Given the description of an element on the screen output the (x, y) to click on. 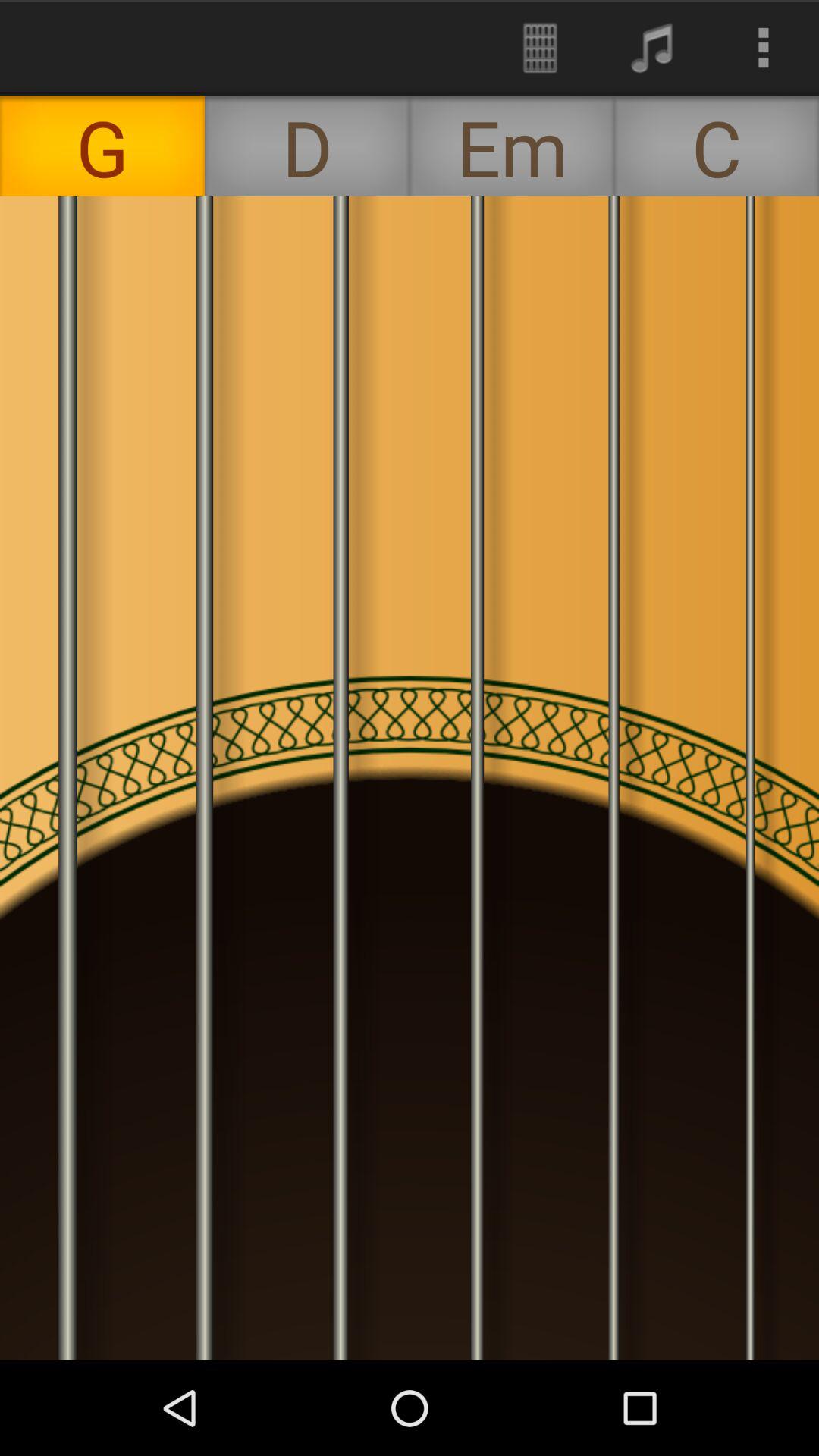
flip until the d item (306, 145)
